Given the description of an element on the screen output the (x, y) to click on. 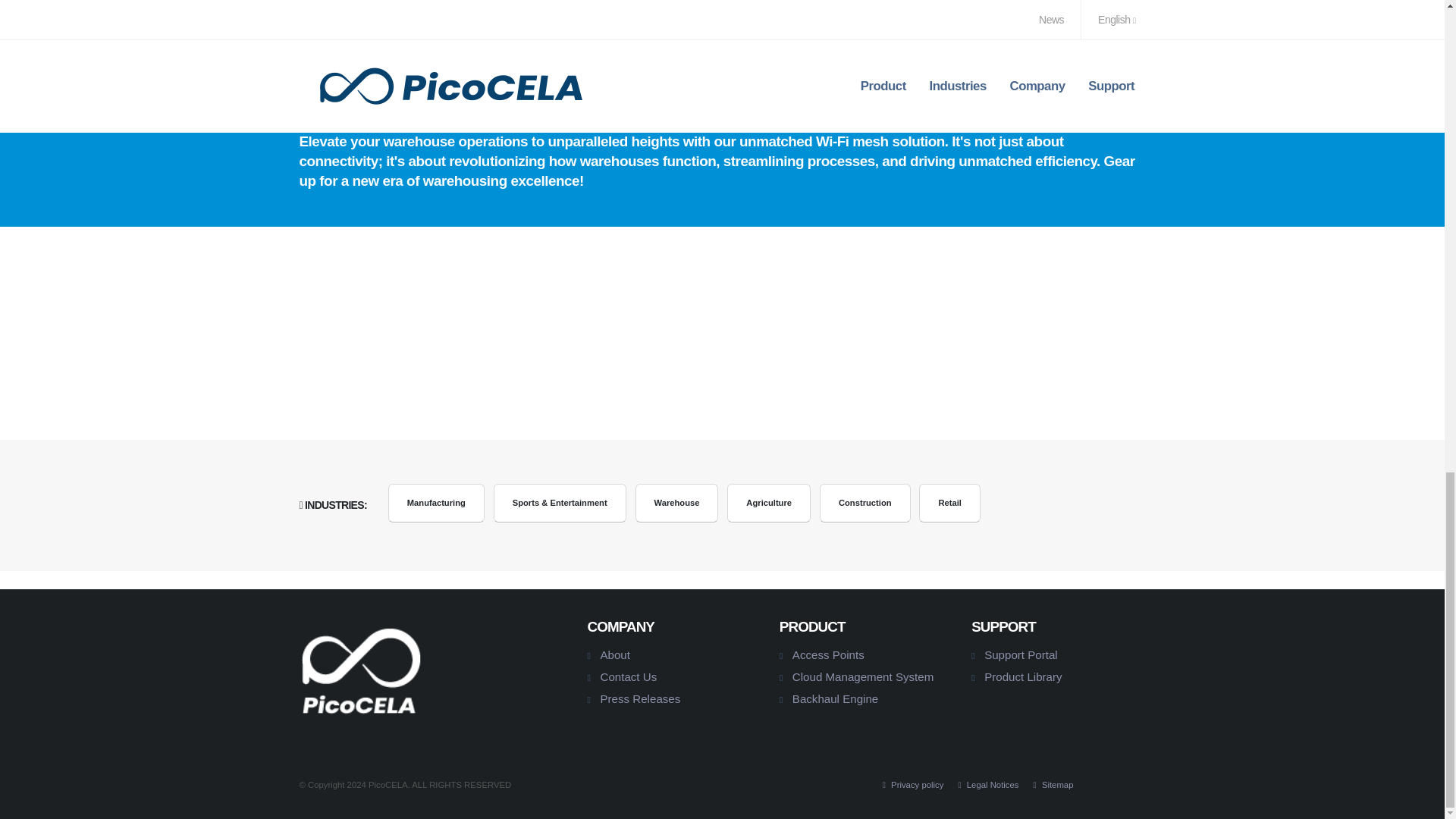
Construction (865, 503)
Agriculture (768, 503)
Cloud Management System (862, 676)
Retail (948, 503)
About (614, 654)
Press Releases (639, 698)
Backhaul Engine (834, 698)
Access Points (828, 654)
Contact Us (627, 676)
Warehouse (676, 503)
